Given the description of an element on the screen output the (x, y) to click on. 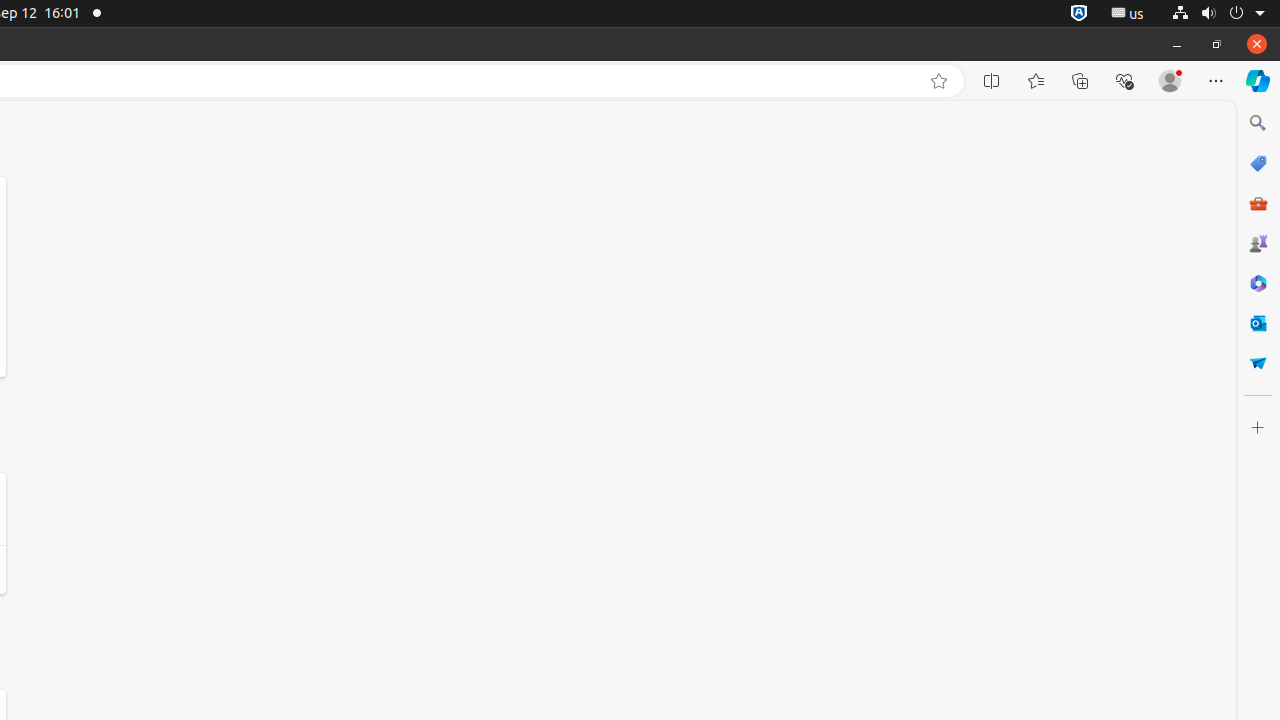
Browser essentials Element type: push-button (1124, 81)
Settings and more (Alt+F) Element type: push-button (1216, 81)
